Given the description of an element on the screen output the (x, y) to click on. 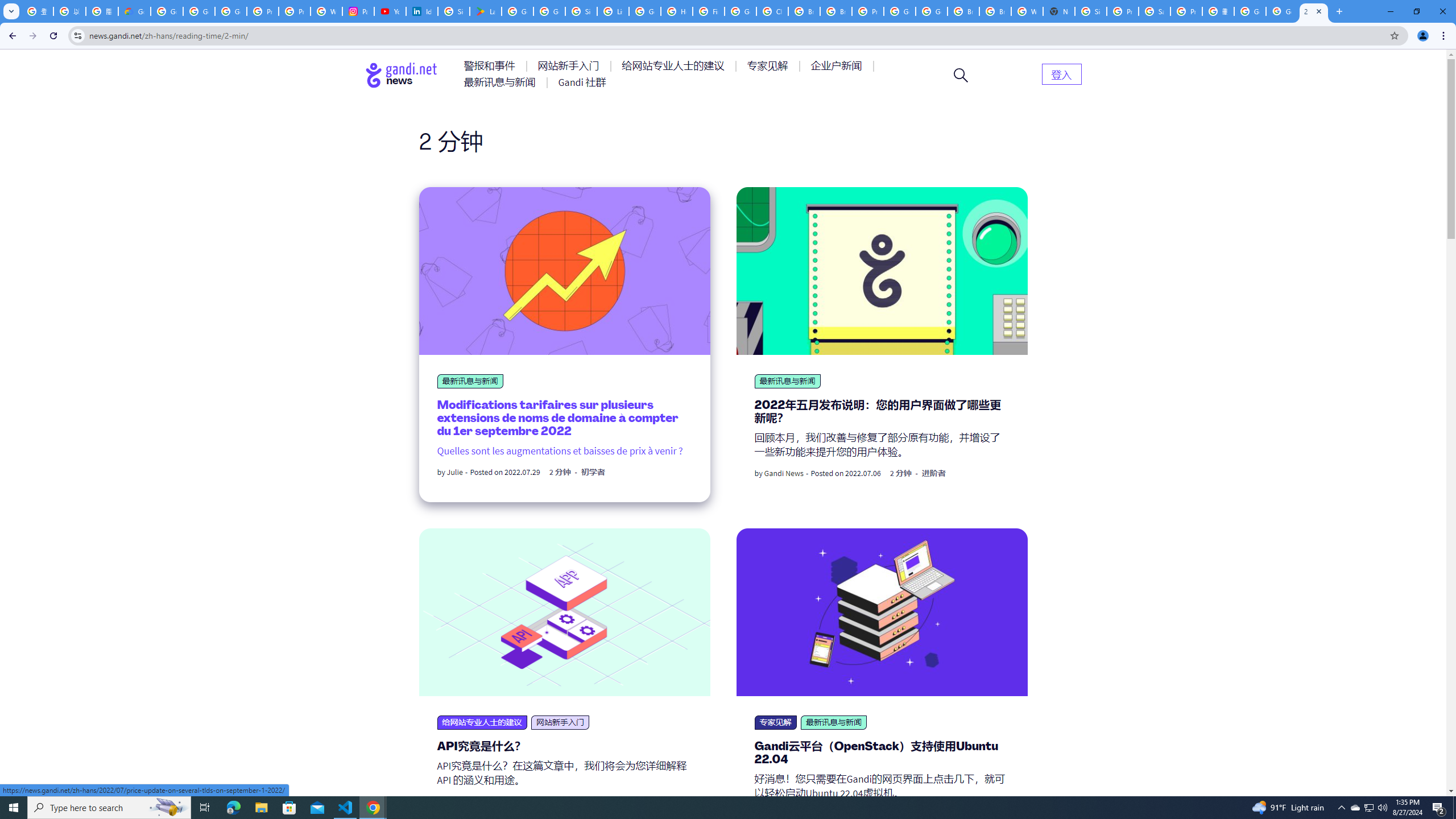
AutomationID: menu-item-77767 (581, 82)
Go to home (401, 75)
Privacy Help Center - Policies Help (262, 11)
AutomationID: menu-item-82399 (1061, 73)
